Given the description of an element on the screen output the (x, y) to click on. 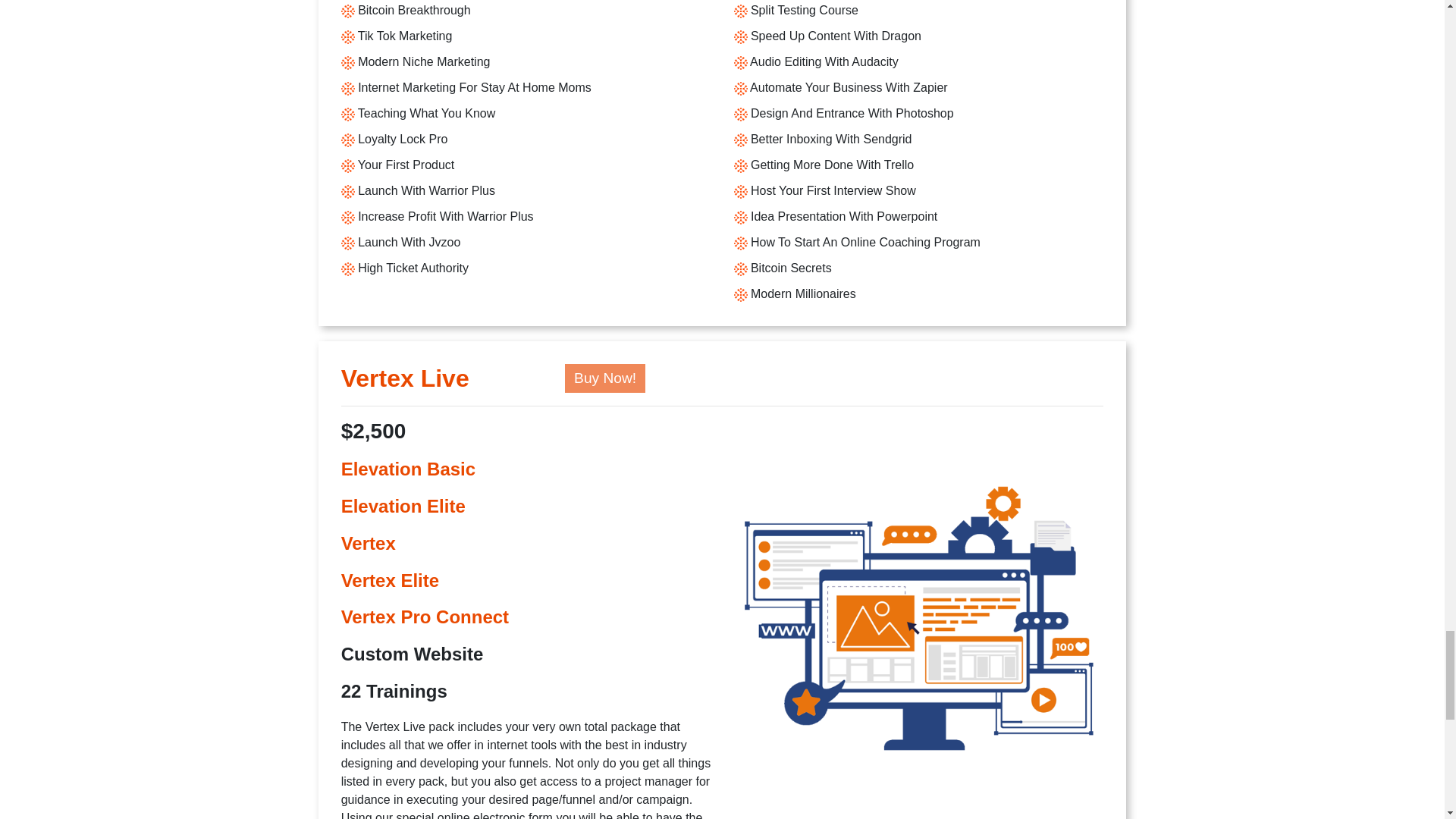
Buy Now! (604, 378)
